Given the description of an element on the screen output the (x, y) to click on. 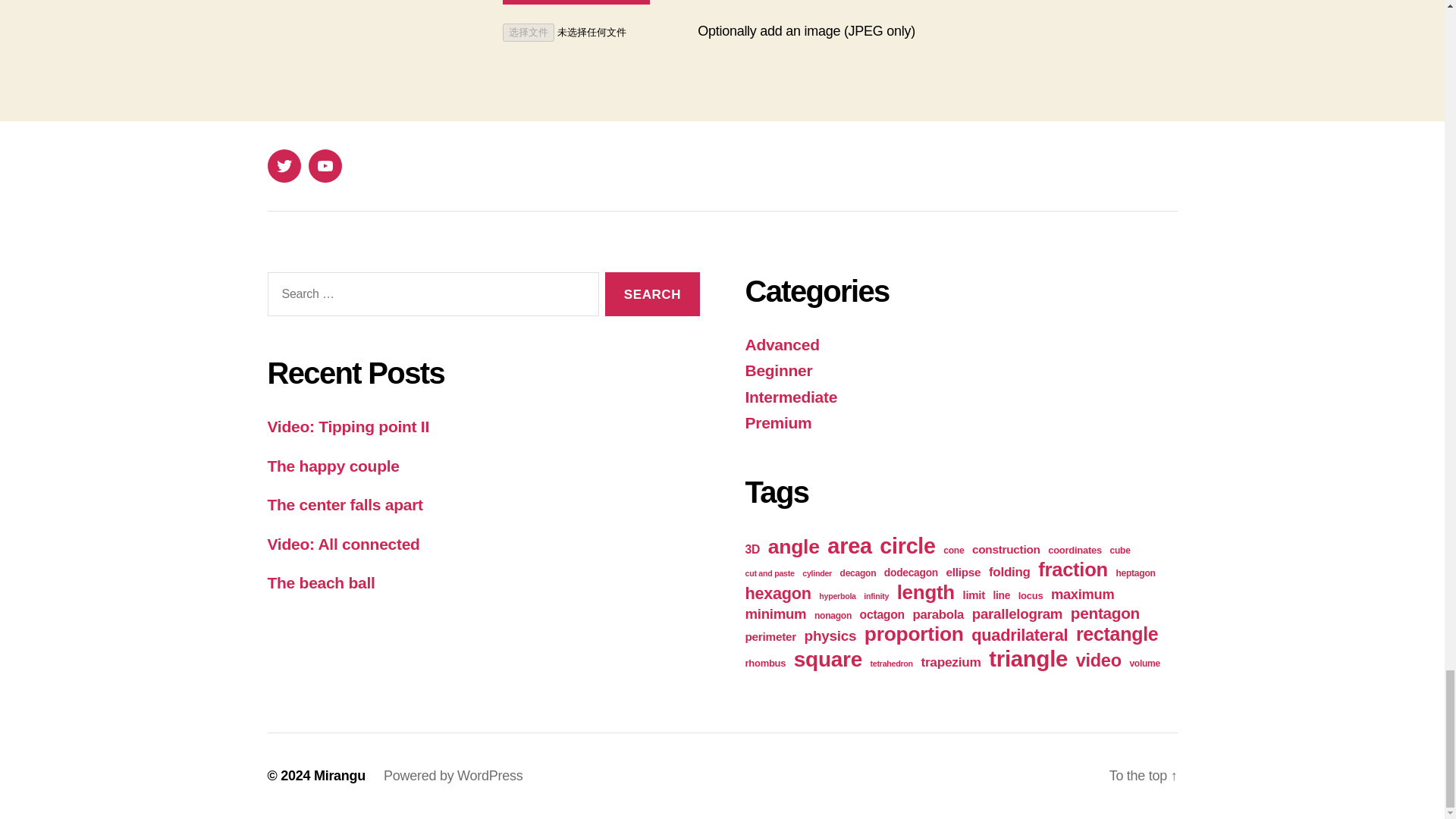
Post Comment (575, 2)
YouTube (323, 165)
Post Comment (575, 2)
Twitter (282, 165)
Search (651, 293)
Search (651, 293)
